Given the description of an element on the screen output the (x, y) to click on. 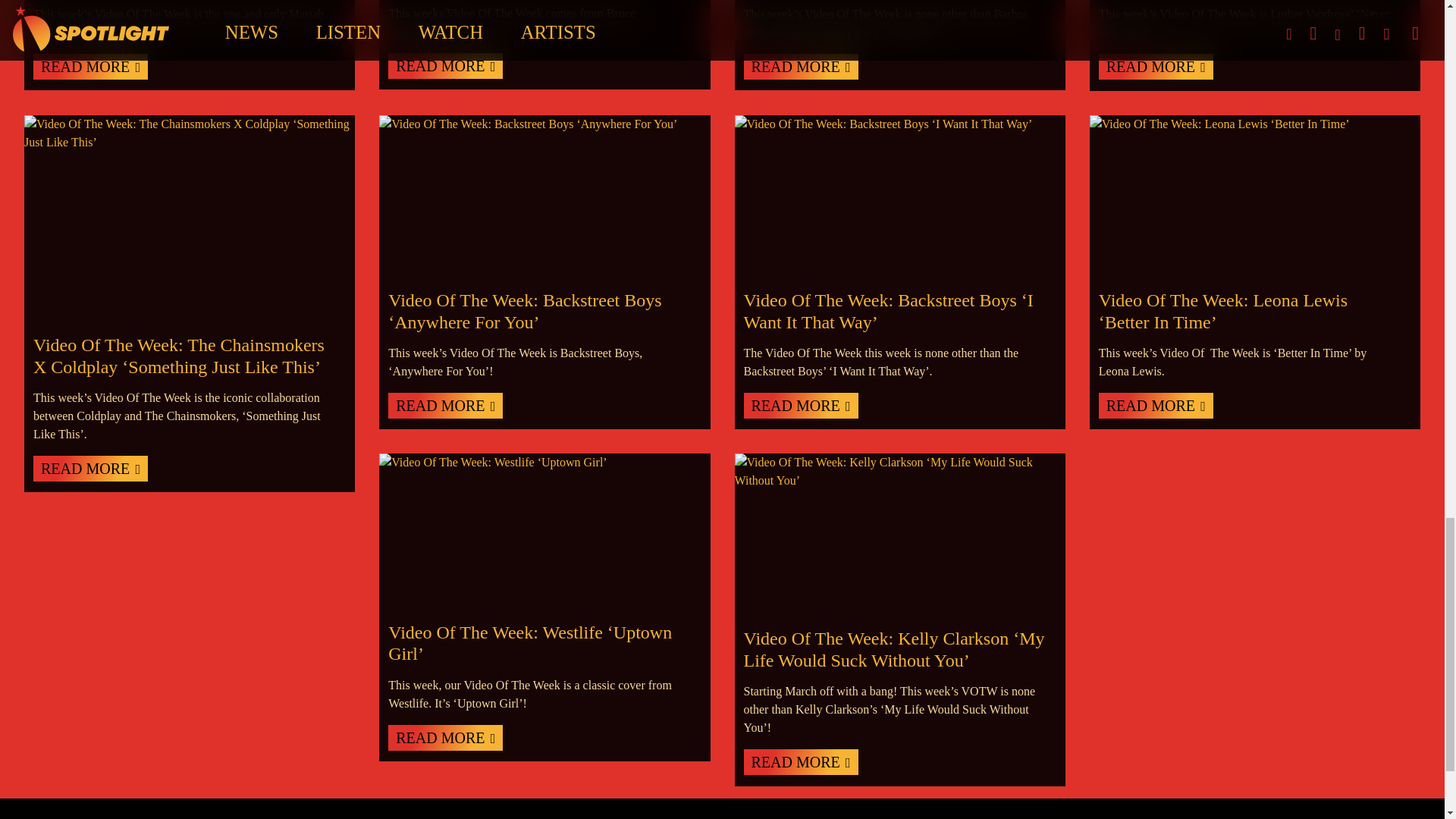
READ MORE (445, 737)
READ MORE (799, 66)
READ MORE (799, 405)
READ MORE (90, 66)
READ MORE (90, 468)
READ MORE (799, 761)
READ MORE (1155, 66)
READ MORE (445, 65)
READ MORE (445, 405)
READ MORE (1155, 405)
